Given the description of an element on the screen output the (x, y) to click on. 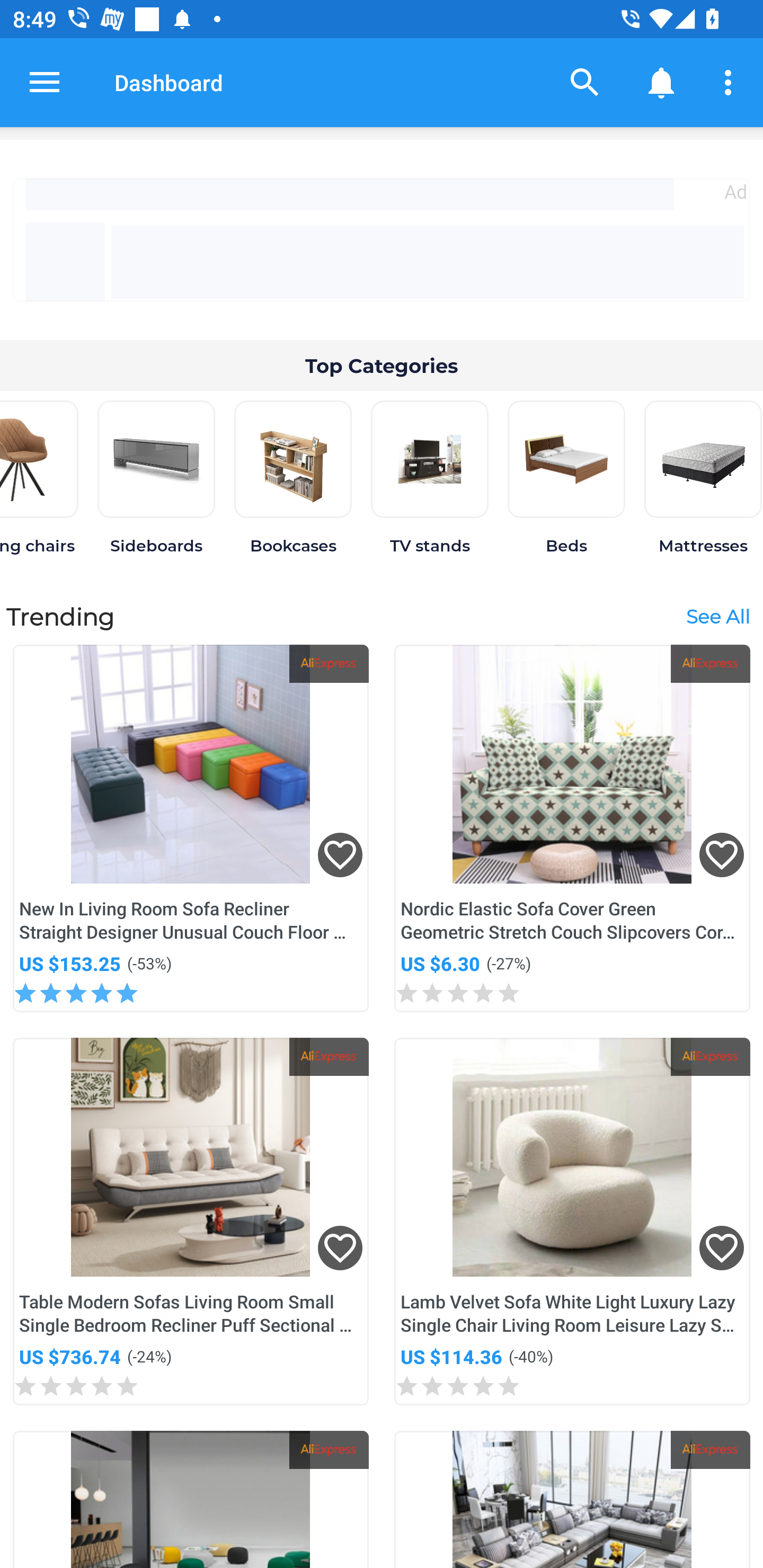
Open navigation drawer (44, 82)
Search (585, 81)
More options (731, 81)
See All (717, 615)
